Given the description of an element on the screen output the (x, y) to click on. 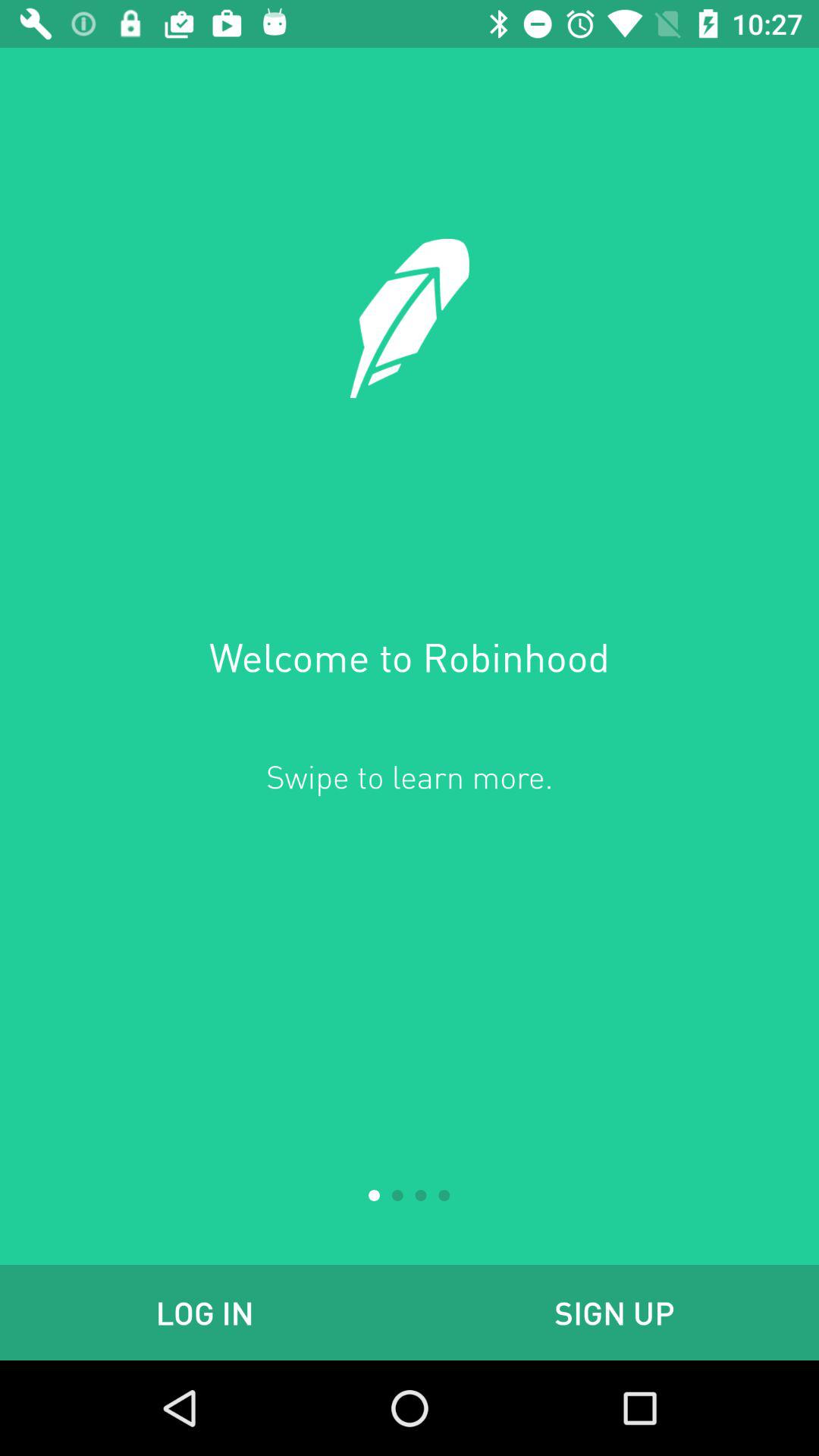
swipe to the log in item (204, 1312)
